Given the description of an element on the screen output the (x, y) to click on. 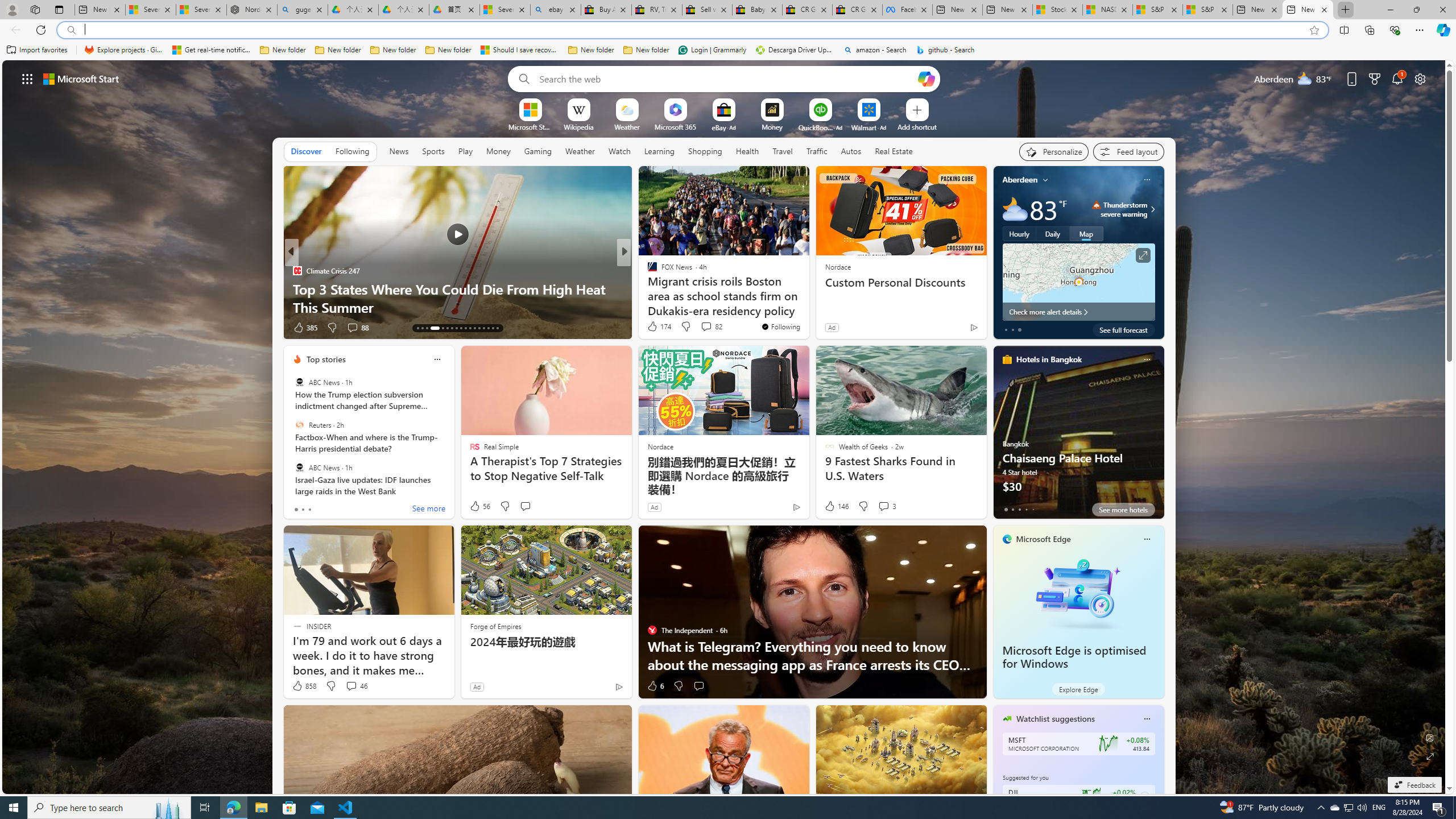
AutomationID: tab-24 (474, 328)
Play (465, 151)
Top 3 States Where You Could Die From High Heat This Summer (457, 298)
View comments 3 Comment (887, 505)
22 Like (652, 327)
142 Like (654, 327)
hotels-header-icon (1006, 358)
Hourly (1018, 233)
AutomationID: tab-17 (442, 328)
Sell worldwide with eBay (706, 9)
Custom Personal Discounts (900, 282)
AutomationID: tab-26 (483, 328)
guge yunpan - Search (302, 9)
